Given the description of an element on the screen output the (x, y) to click on. 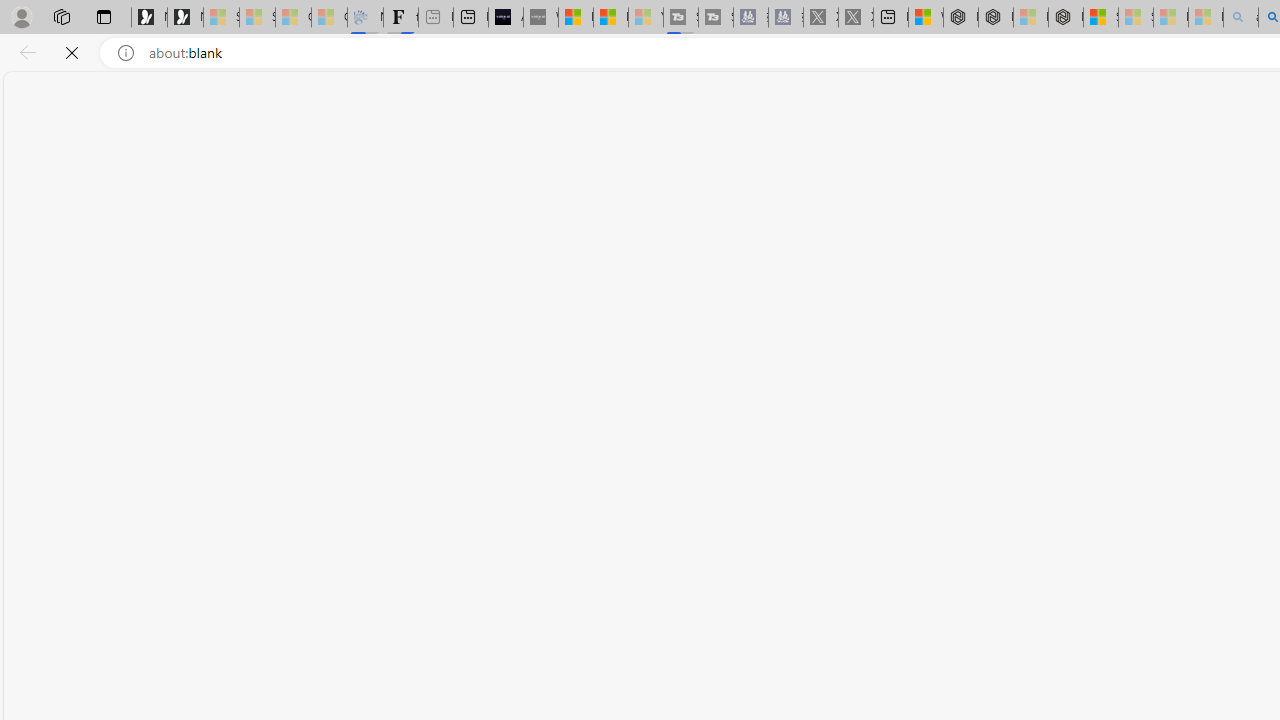
Nordace - Nordace Siena Is Not An Ordinary Backpack (1065, 17)
